Given the description of an element on the screen output the (x, y) to click on. 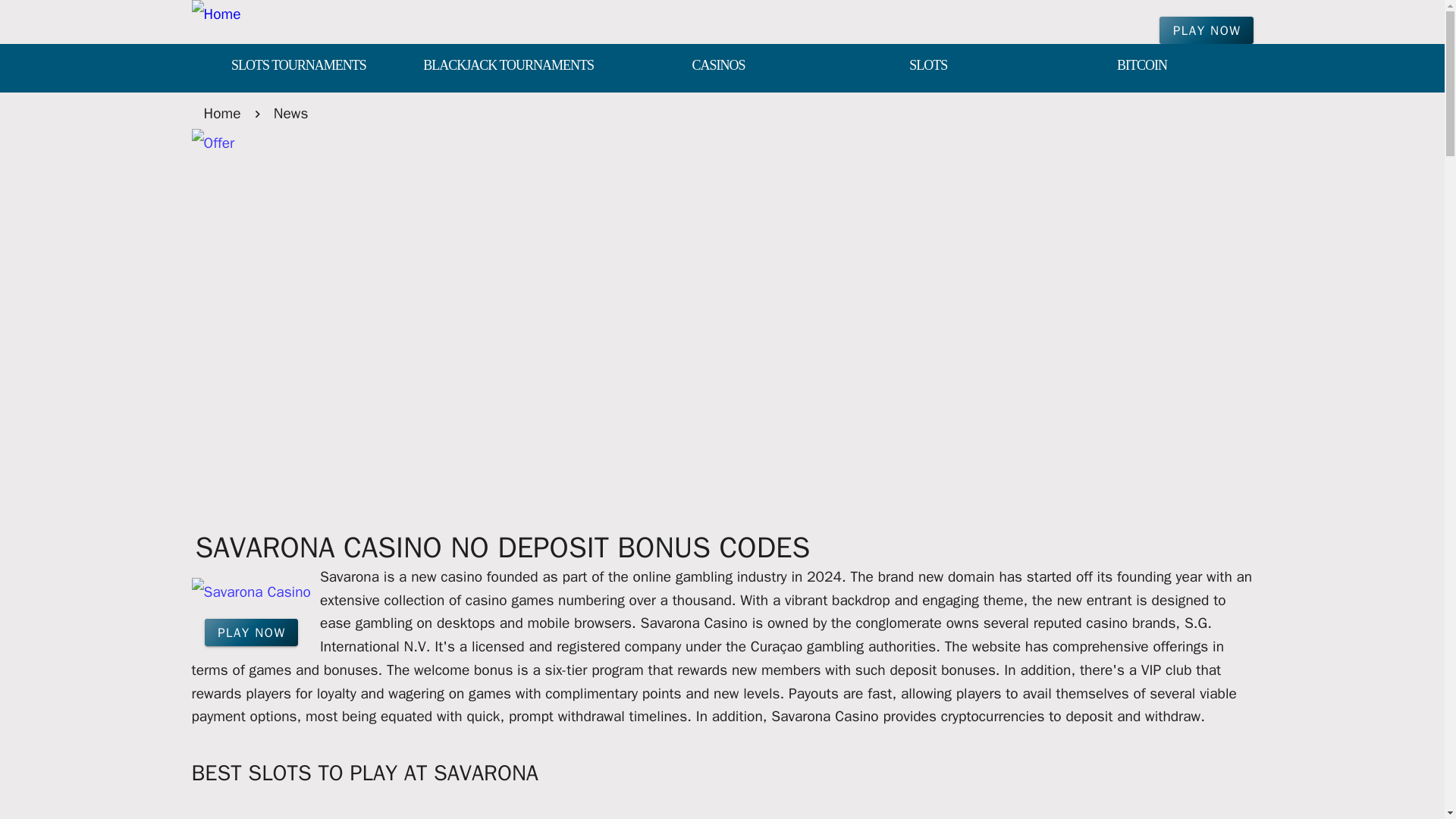
SLOTS (928, 66)
PLAY NOW (251, 632)
CASINOS (718, 66)
Home (221, 113)
SLOTS TOURNAMENTS (297, 66)
PLAY NOW (1205, 30)
BITCOIN (1141, 66)
BLACKJACK TOURNAMENTS (508, 66)
News (290, 113)
